Given the description of an element on the screen output the (x, y) to click on. 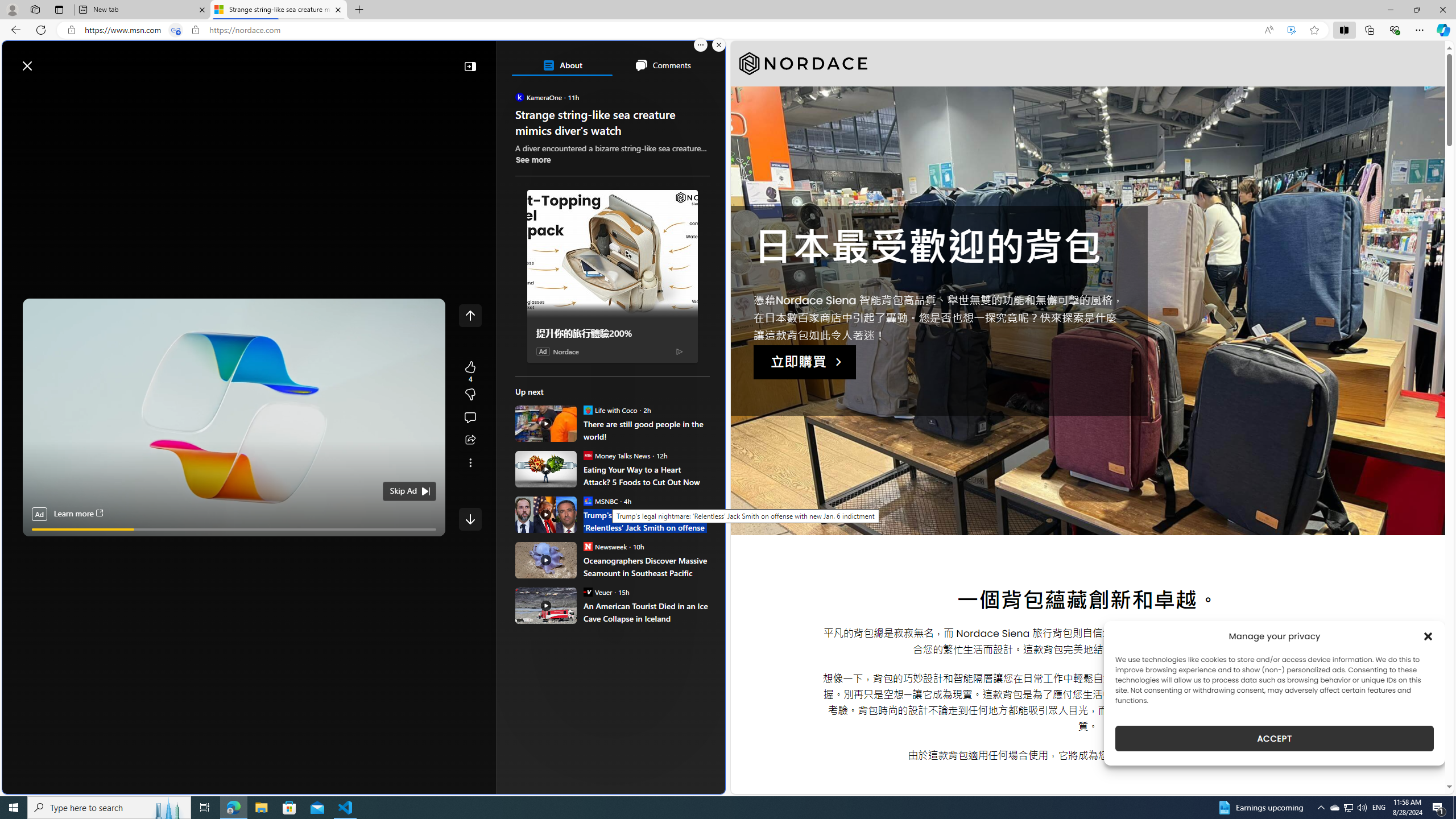
Close split screen. (719, 45)
Back (13, 29)
Tab actions menu (58, 9)
Enter your search term (366, 59)
Money Talks News (587, 455)
Feedback (681, 784)
